Given the description of an element on the screen output the (x, y) to click on. 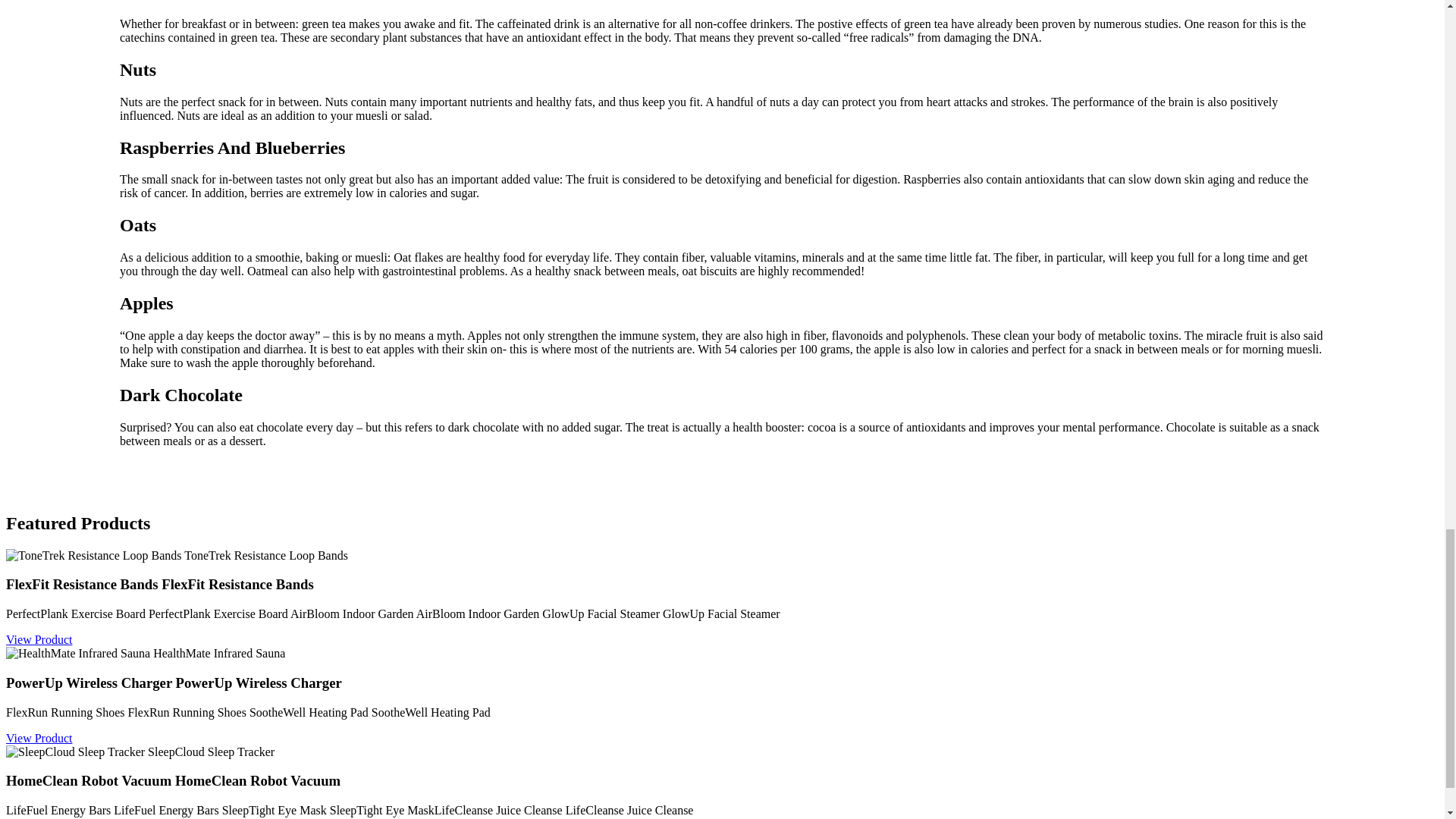
View Product (38, 738)
View Product (38, 639)
